Given the description of an element on the screen output the (x, y) to click on. 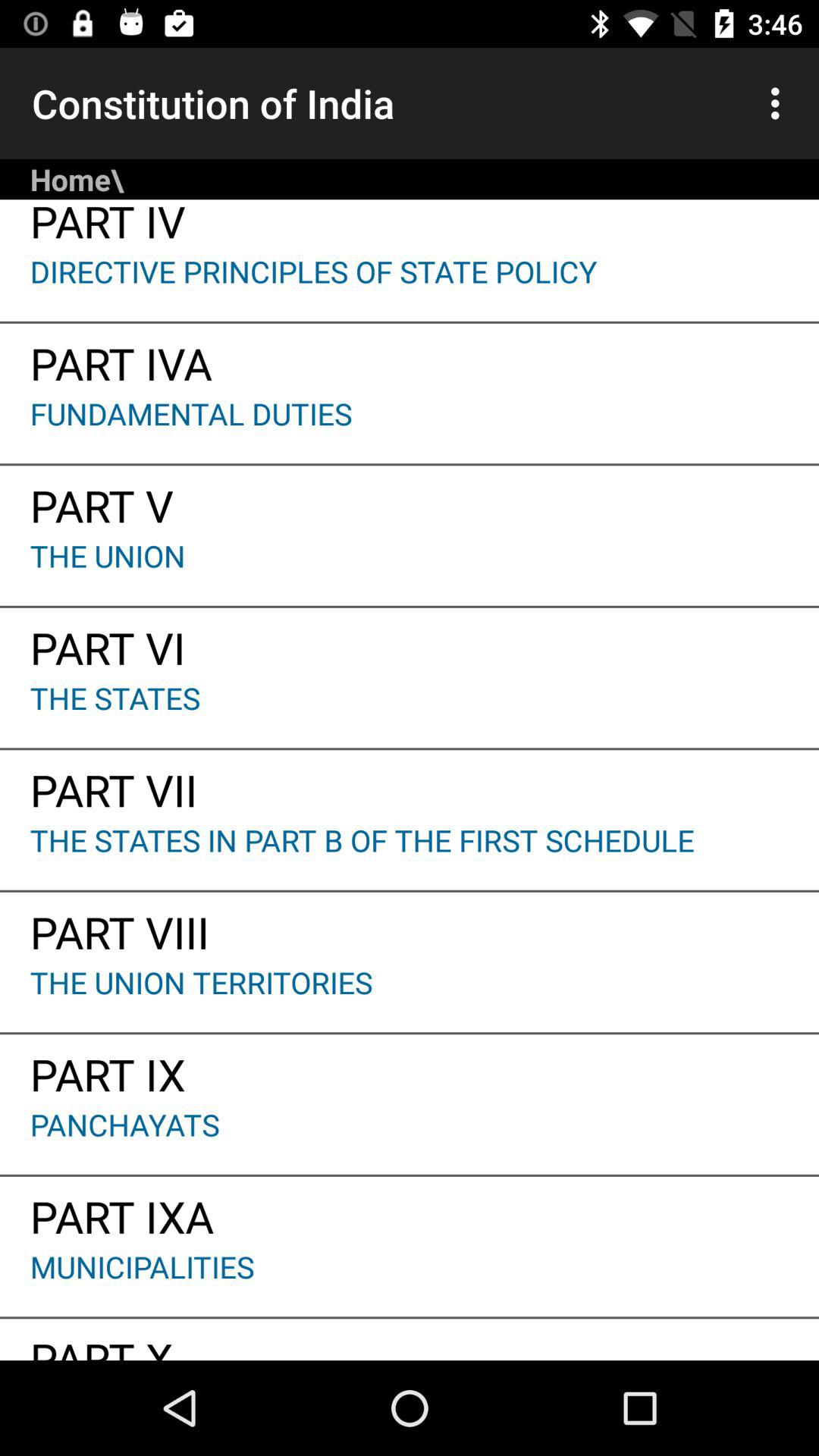
press panchayats app (409, 1139)
